Given the description of an element on the screen output the (x, y) to click on. 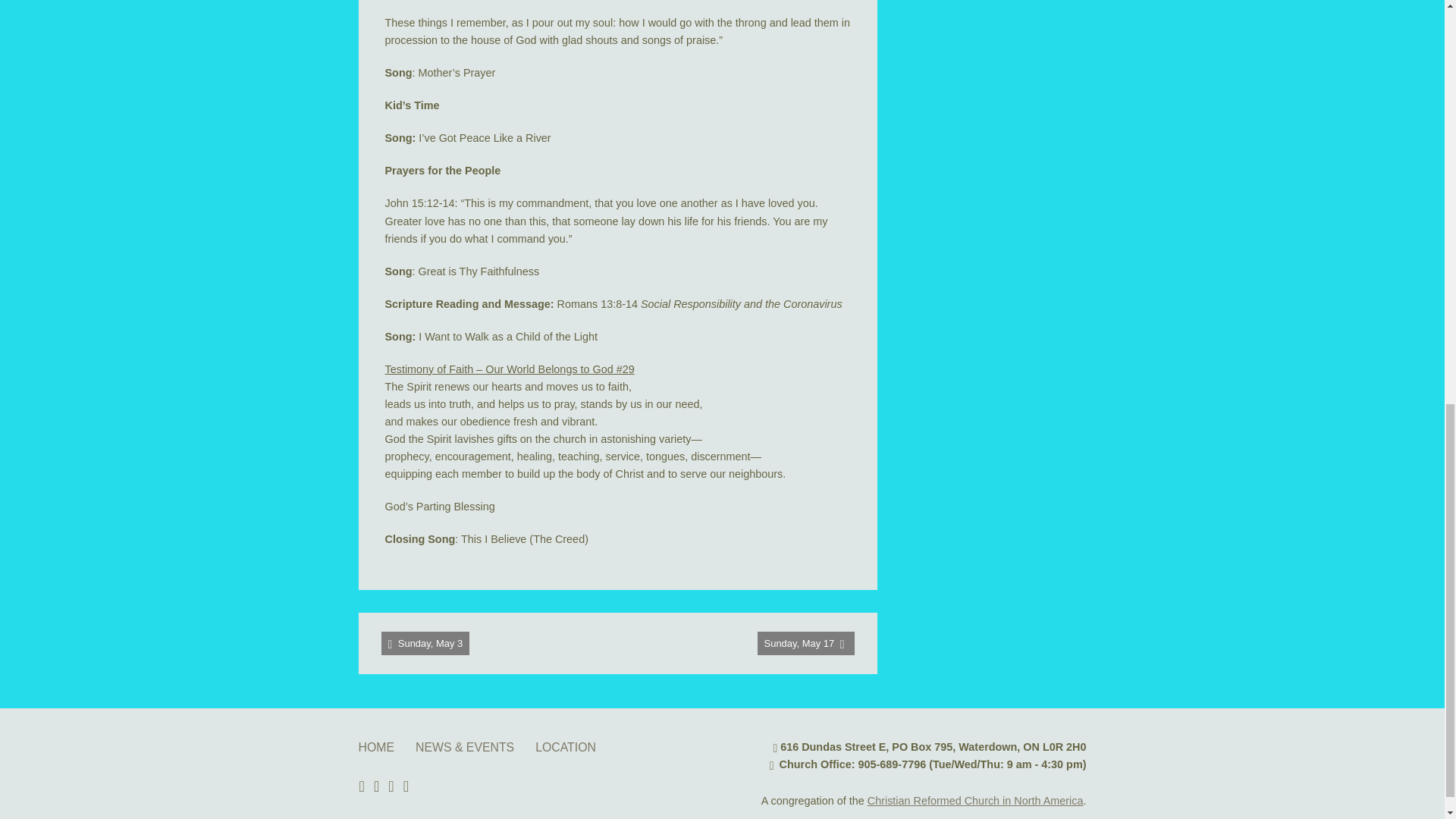
Learn more about the Christian Reformed Church (975, 800)
